Given the description of an element on the screen output the (x, y) to click on. 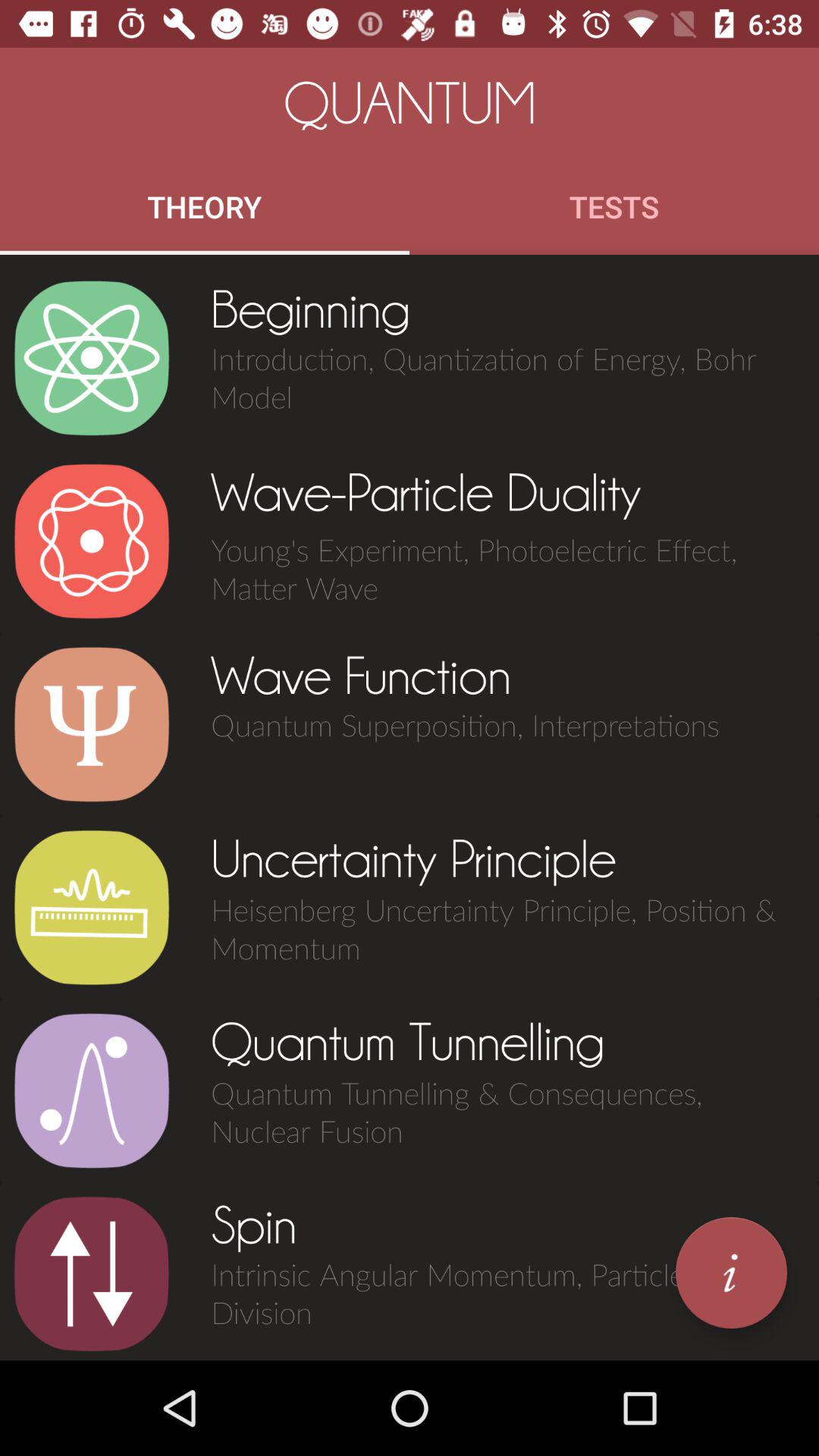
launch the icon next to quantum tunnelling icon (91, 1090)
